Given the description of an element on the screen output the (x, y) to click on. 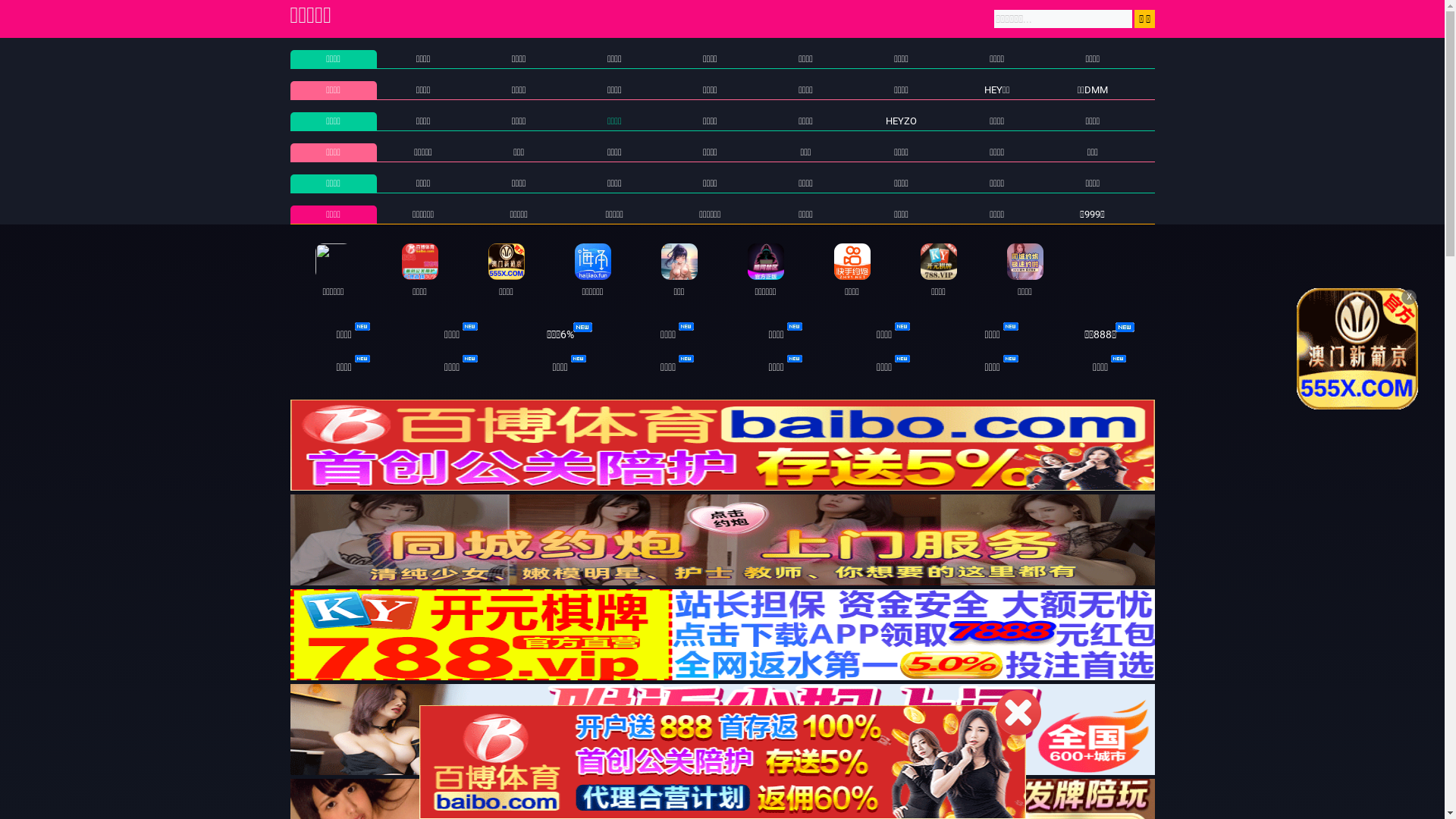
HEYZO Element type: text (900, 120)
